Given the description of an element on the screen output the (x, y) to click on. 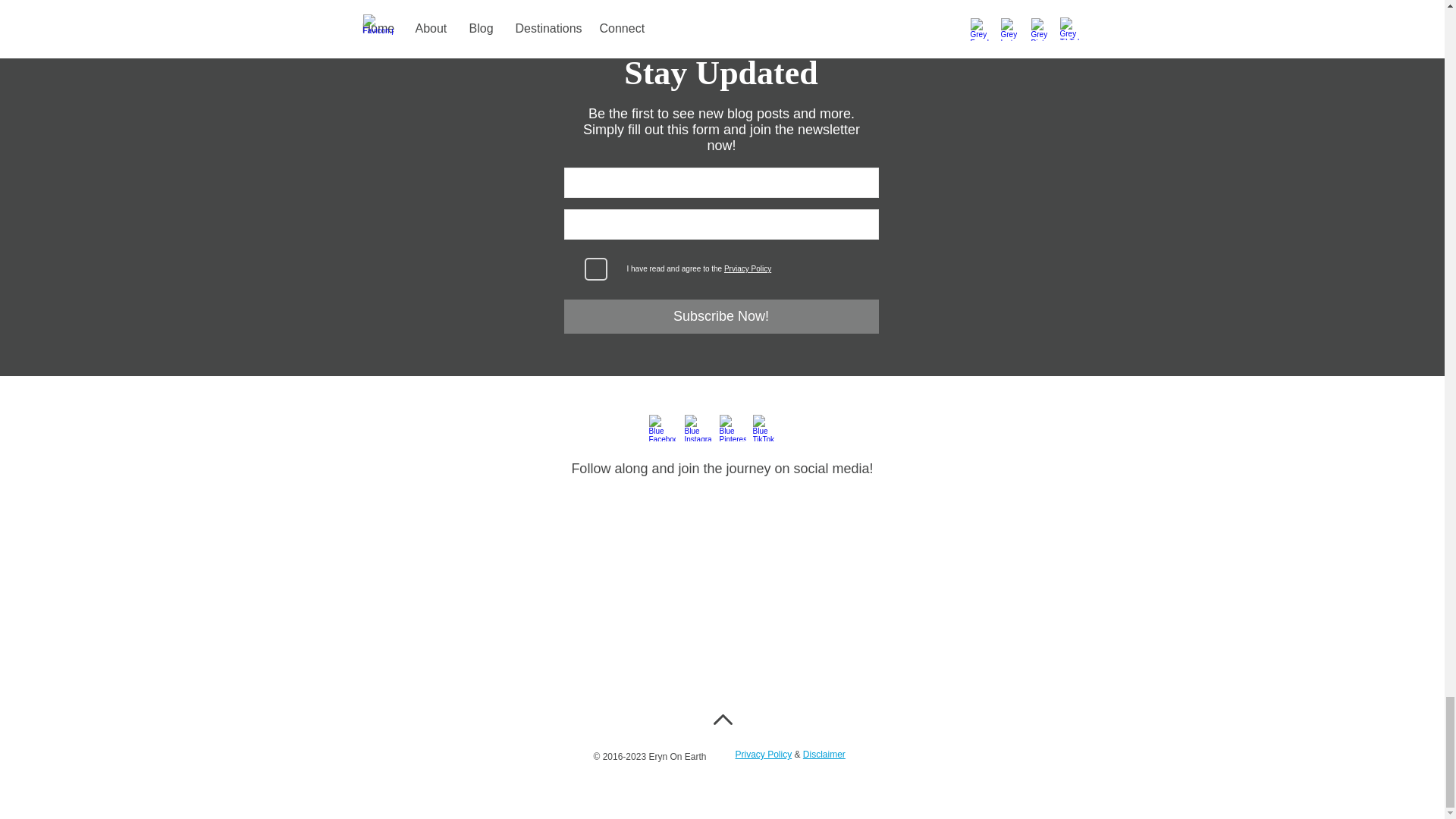
Prviacy Policy (747, 268)
Privacy Policy (763, 754)
Disclaimer (824, 754)
Subscribe Now! (721, 316)
